Given the description of an element on the screen output the (x, y) to click on. 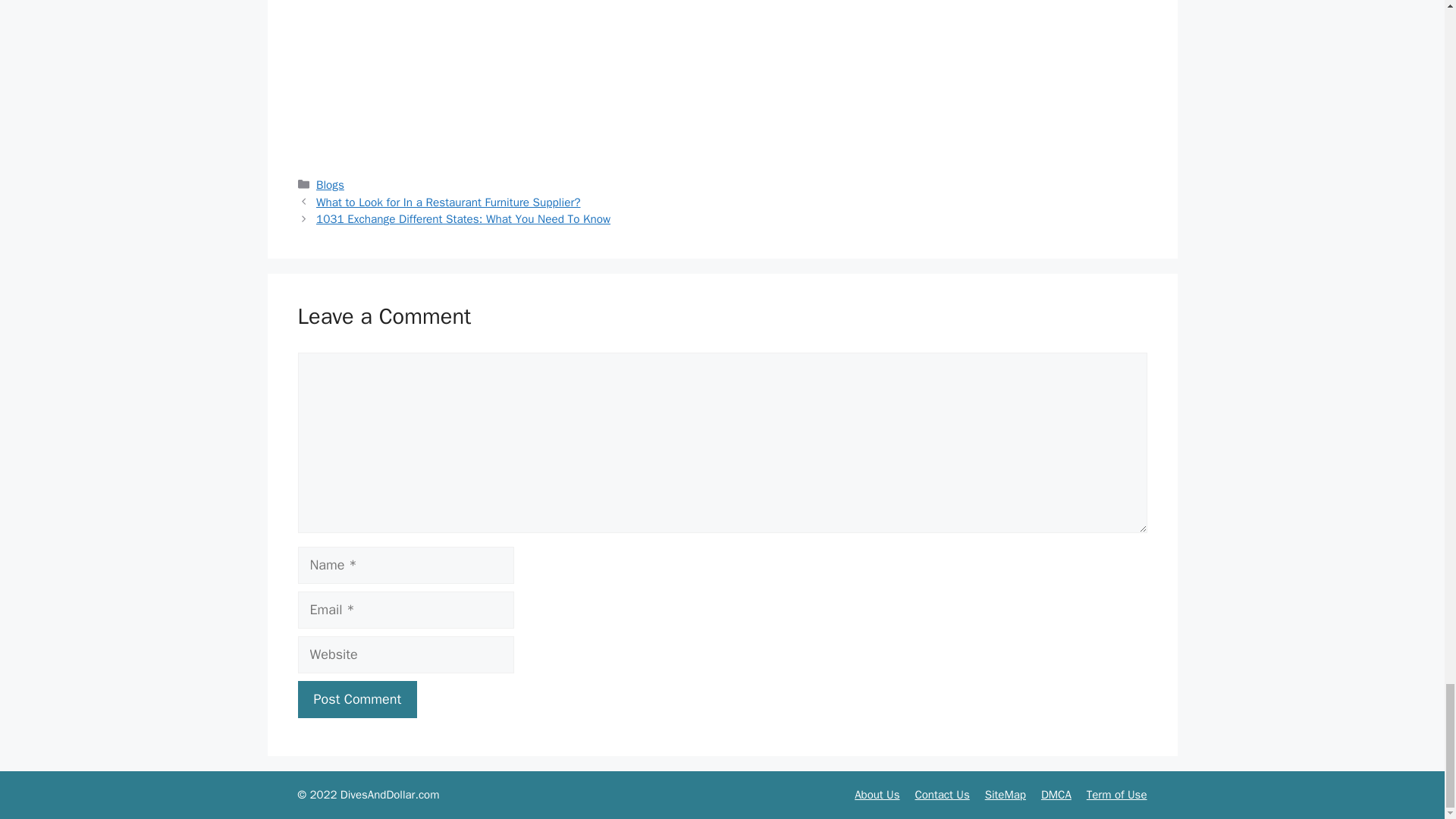
Post Comment (356, 699)
